Given the description of an element on the screen output the (x, y) to click on. 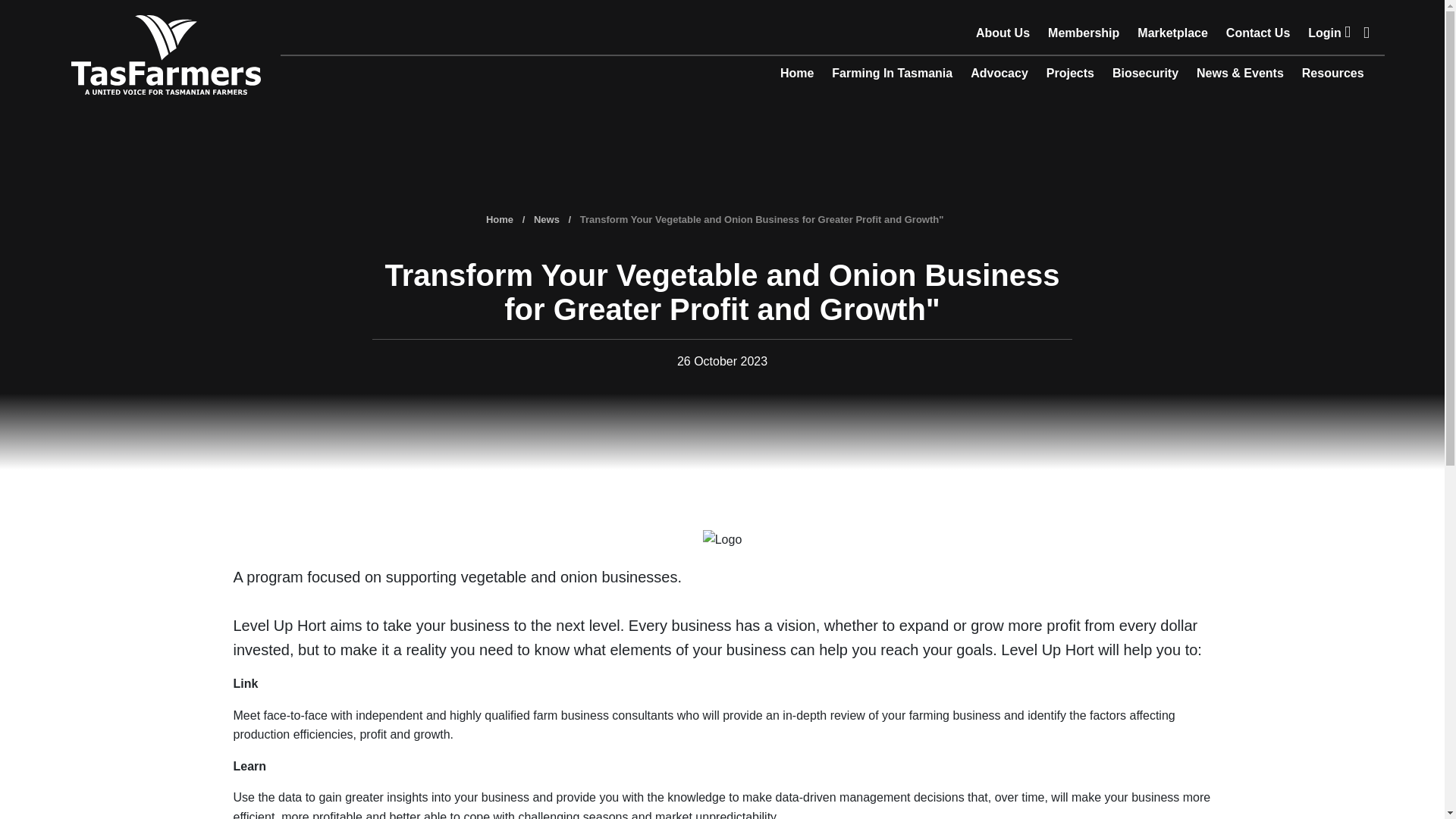
Projects (1069, 75)
Contact Us (1257, 34)
Farming In Tasmania (891, 75)
Home (796, 75)
Marketplace (1172, 34)
Biosecurity (1145, 75)
About Us (1002, 34)
Advocacy (998, 75)
Login (1328, 34)
Membership (1083, 34)
